Given the description of an element on the screen output the (x, y) to click on. 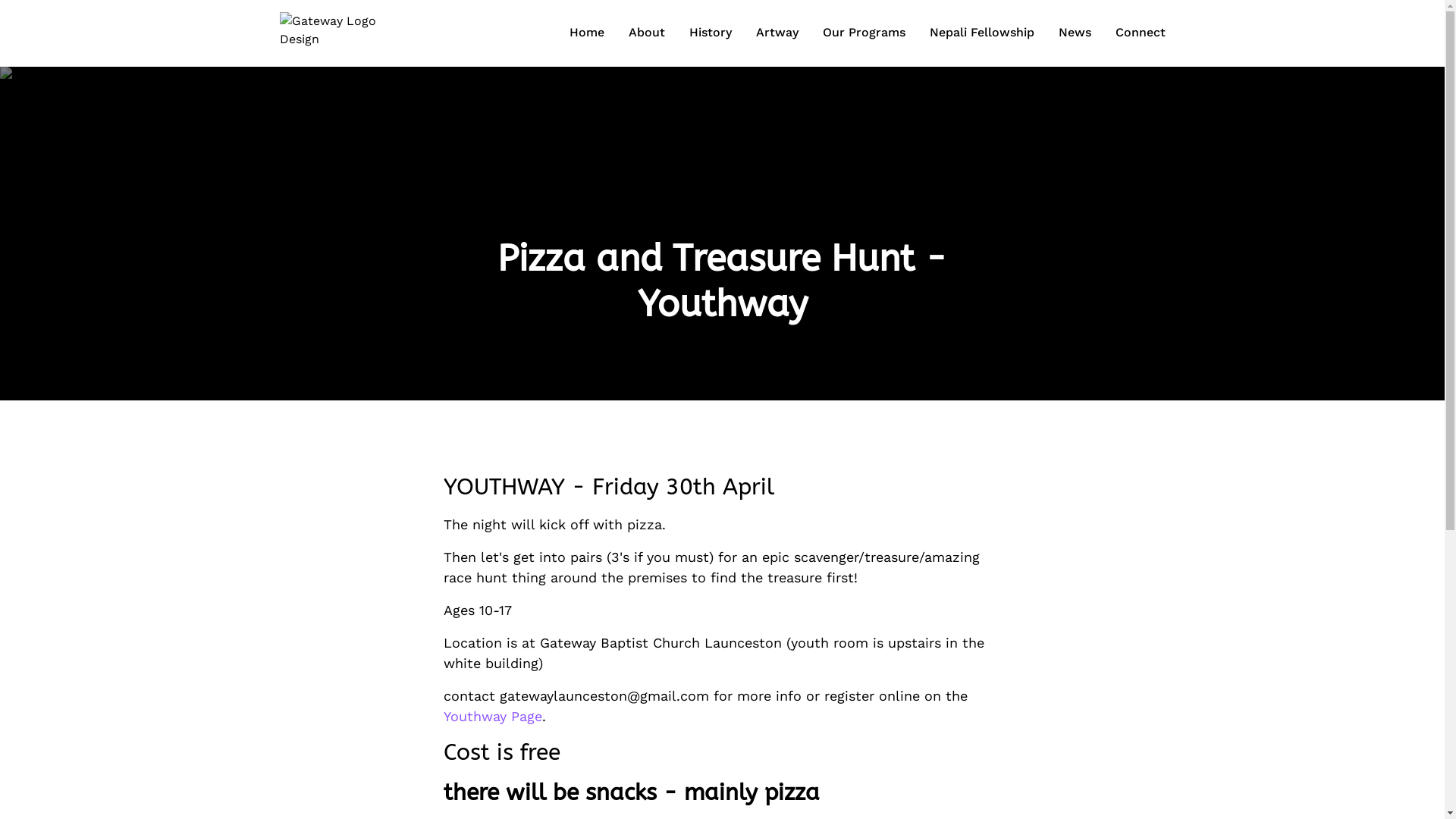
Home Element type: text (585, 33)
News Element type: text (1074, 33)
About Element type: text (645, 33)
Nepali Fellowship Element type: text (981, 33)
Connect Element type: text (1139, 33)
Our Programs Element type: text (863, 33)
History Element type: text (709, 33)
Youthway Page Element type: text (491, 716)
Artway Element type: text (776, 33)
